Given the description of an element on the screen output the (x, y) to click on. 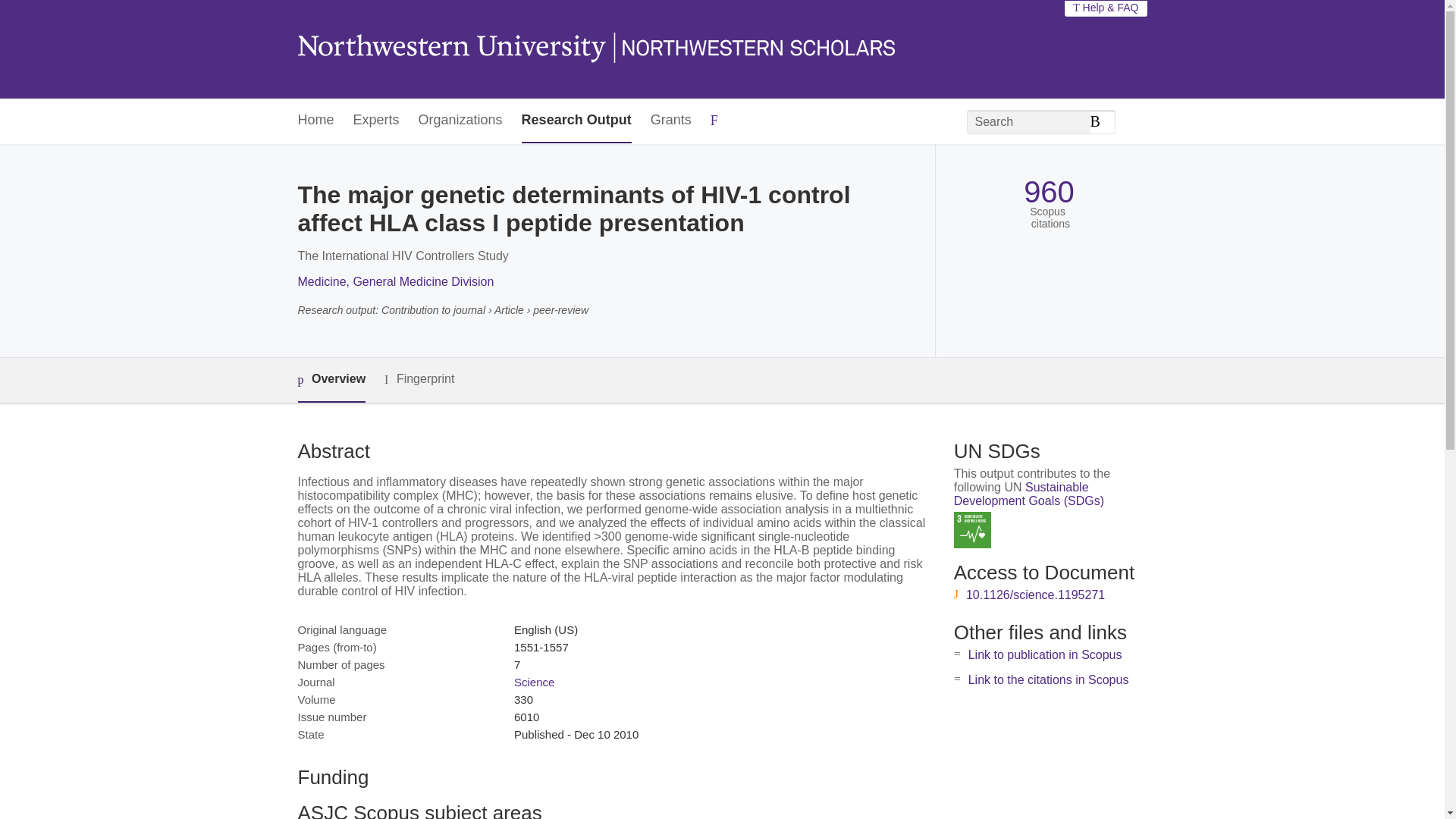
Organizations (460, 120)
960 (1048, 192)
Grants (670, 120)
Link to the citations in Scopus (1048, 679)
Fingerprint (419, 379)
Medicine, General Medicine Division (395, 281)
Link to publication in Scopus (1045, 654)
Experts (375, 120)
SDG 3 - Good Health and Well-being (972, 529)
Northwestern Scholars Home (595, 49)
